Given the description of an element on the screen output the (x, y) to click on. 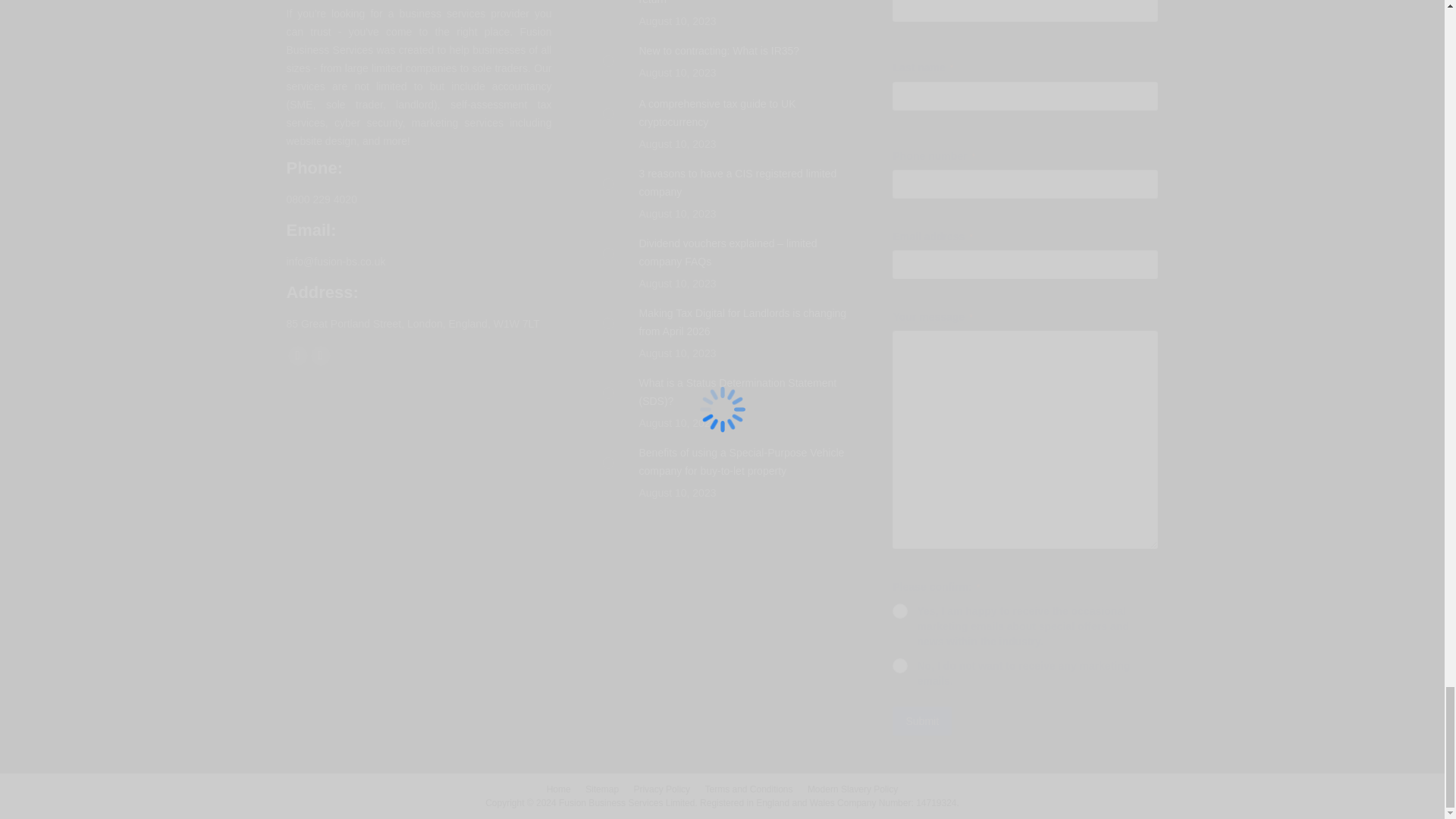
No, I do not want to receive any marketing emails. (899, 665)
Submit (922, 720)
